Given the description of an element on the screen output the (x, y) to click on. 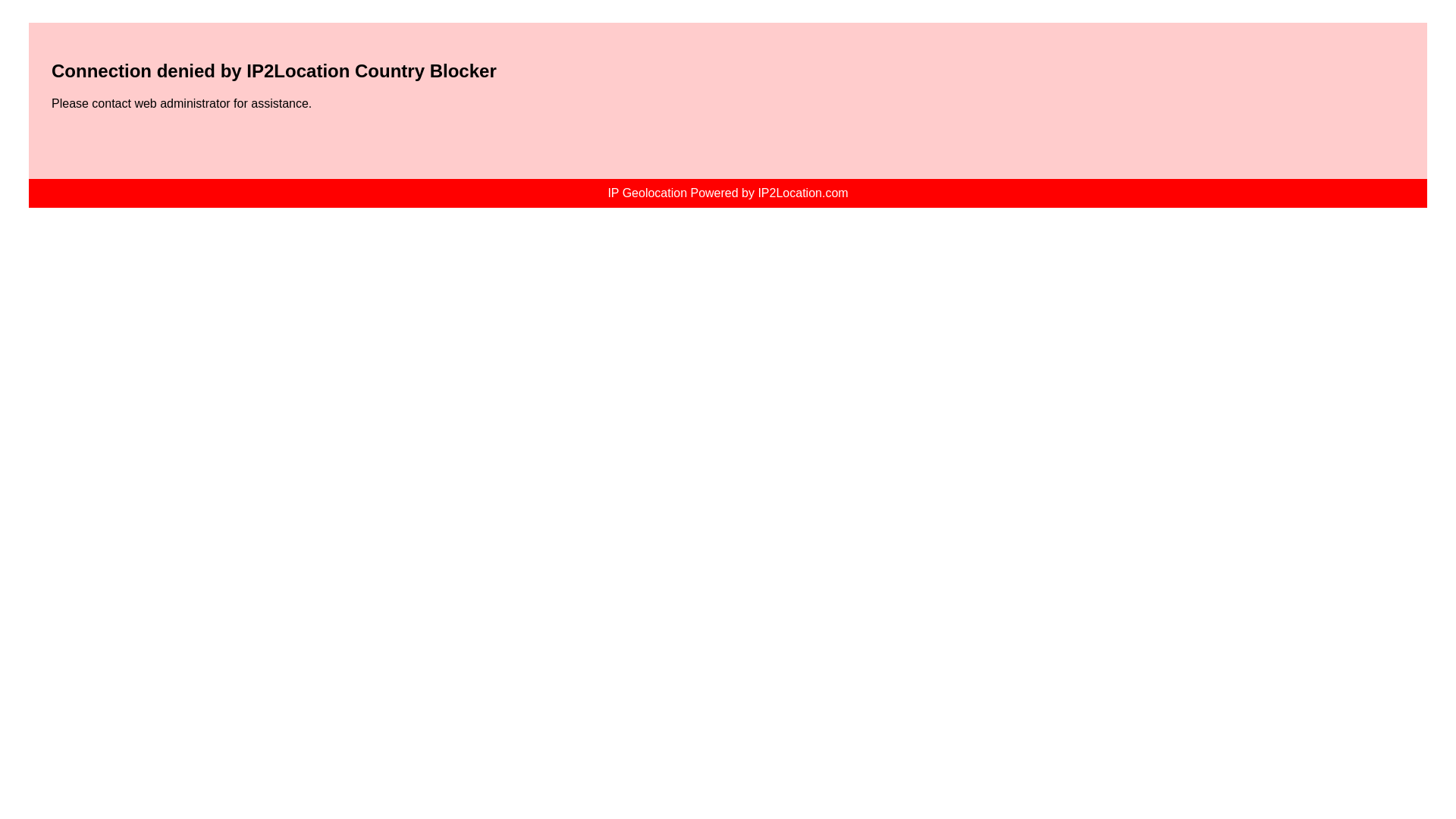
IP Geolocation Powered by IP2Location.com Element type: text (727, 192)
